Given the description of an element on the screen output the (x, y) to click on. 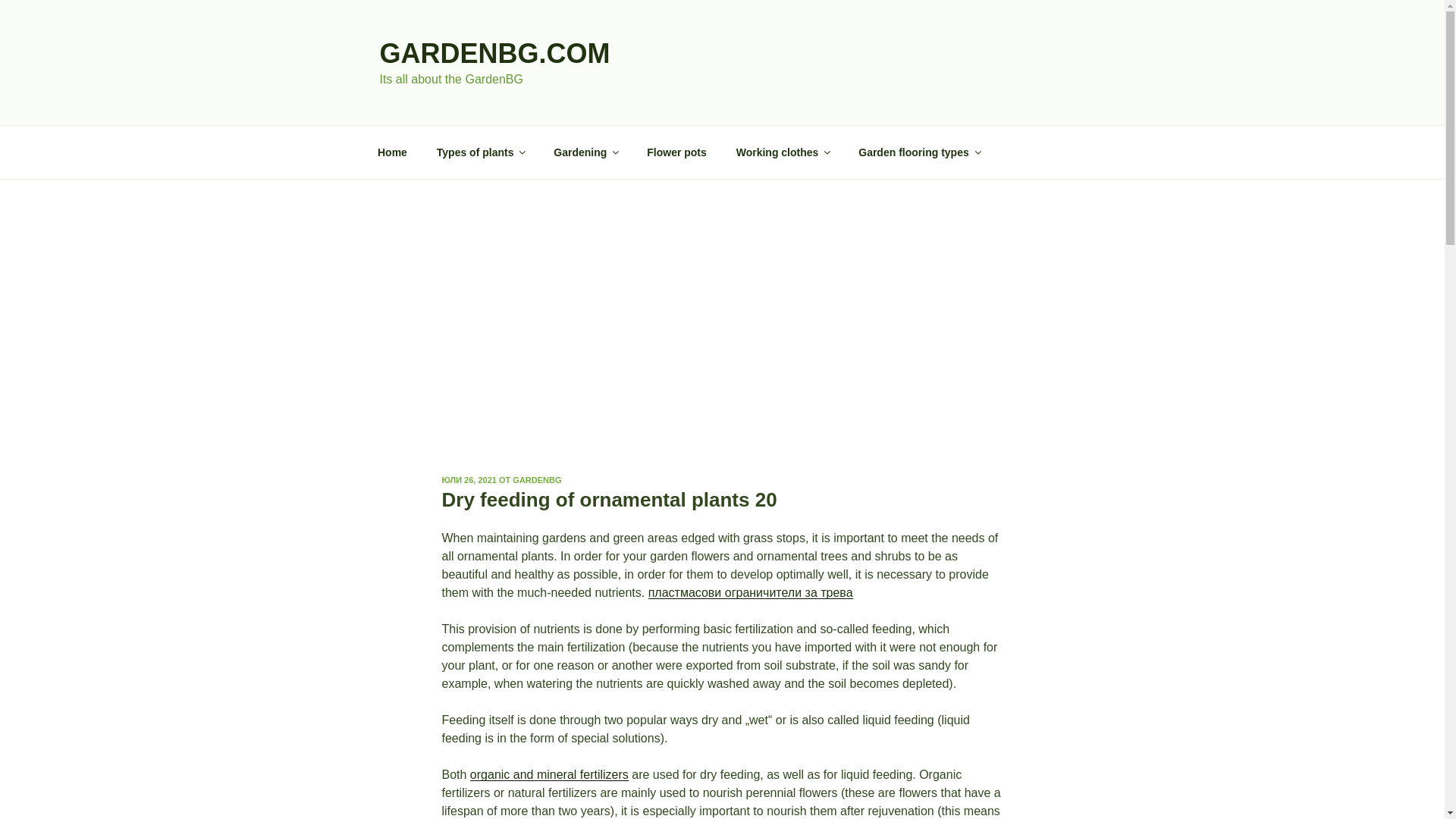
organic and mineral fertilizers (549, 774)
Garden flooring types (918, 151)
Home (392, 151)
GARDENBG (536, 479)
GARDENBG.COM (494, 52)
Gardening (585, 151)
Flower pots (676, 151)
Types of plants (480, 151)
Working clothes (782, 151)
